Given the description of an element on the screen output the (x, y) to click on. 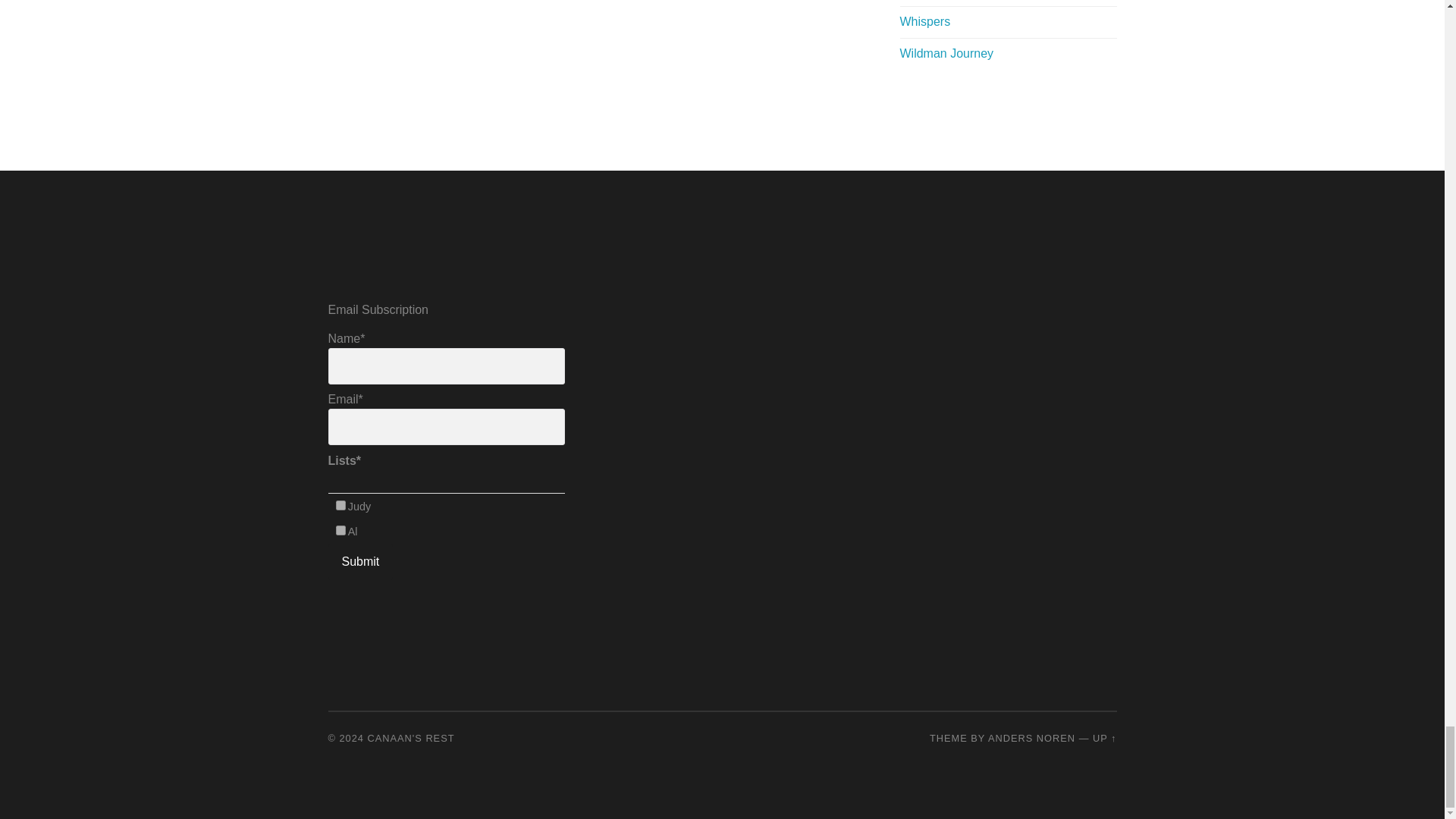
90f40595a265 (341, 505)
3c59cd8b42fd (341, 530)
To the top (1104, 737)
Submit (360, 561)
